Given the description of an element on the screen output the (x, y) to click on. 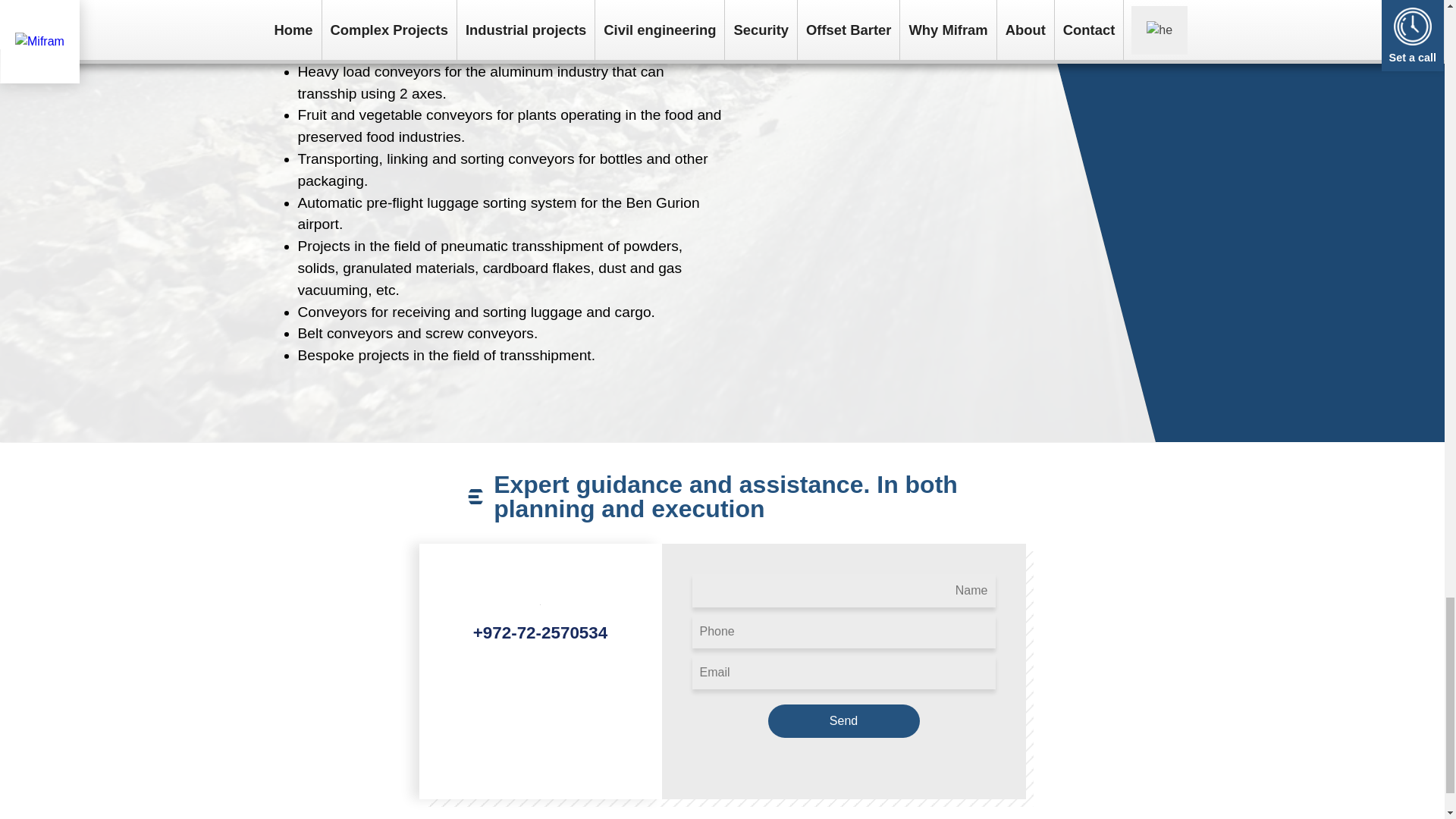
Send (842, 720)
Send (842, 720)
